Given the description of an element on the screen output the (x, y) to click on. 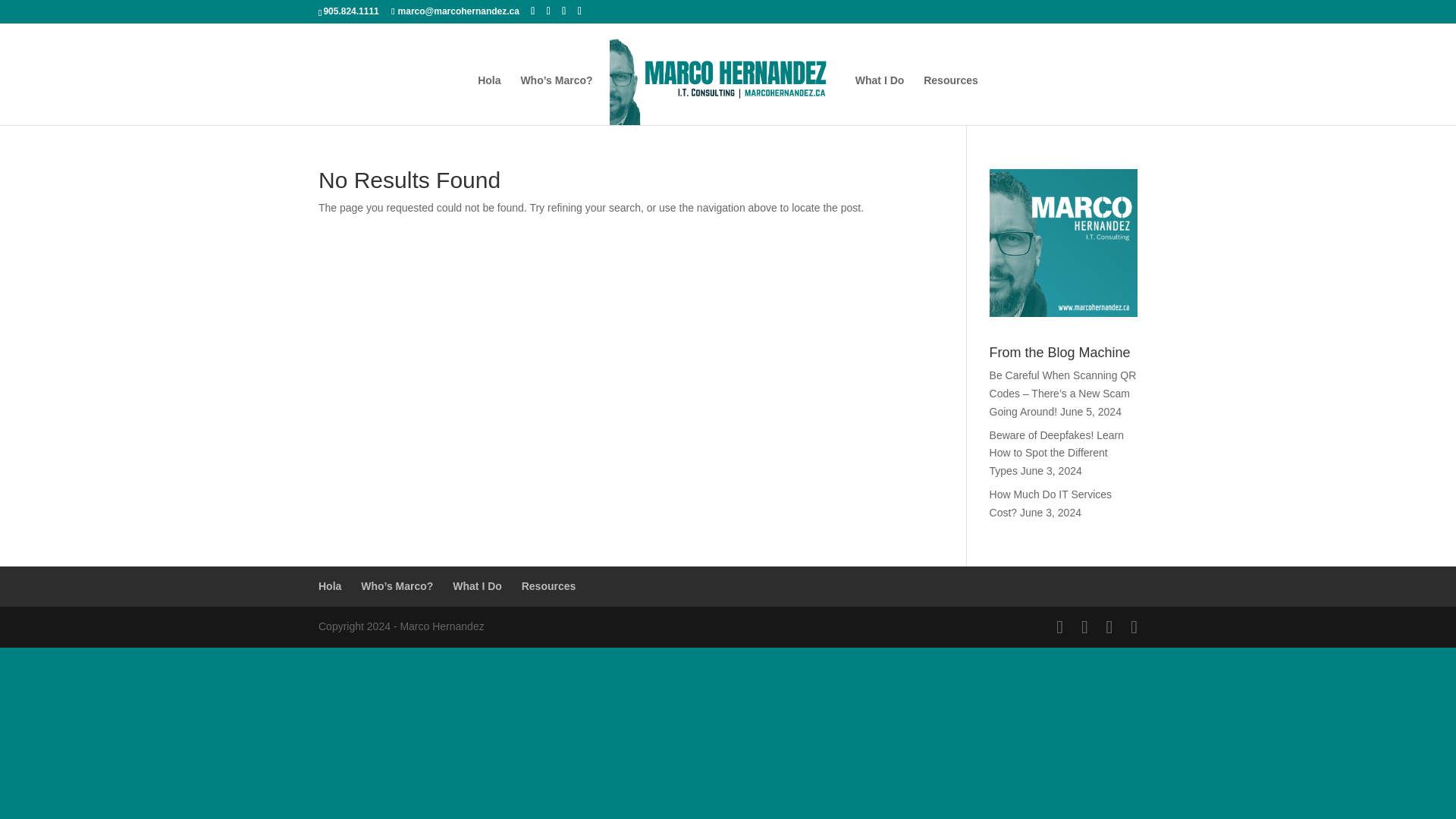
What I Do (880, 100)
Hola (488, 100)
What I Do (477, 585)
Resources (950, 100)
Resources (548, 585)
How Much Do IT Services Cost? (1051, 503)
Hola (329, 585)
Beware of Deepfakes! Learn How to Spot the Different Types (1057, 453)
